Given the description of an element on the screen output the (x, y) to click on. 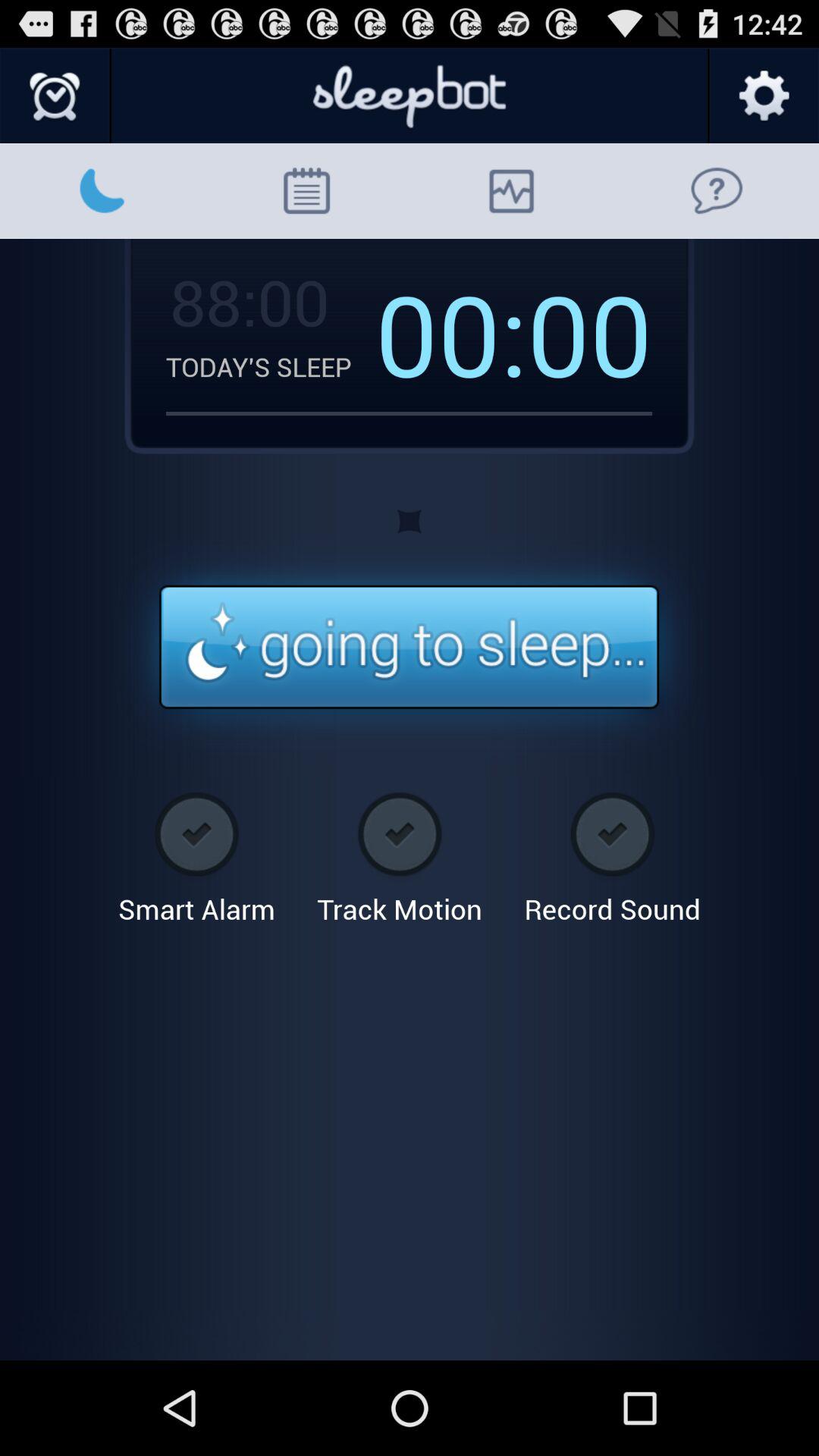
flip to the 00: item (451, 332)
